Given the description of an element on the screen output the (x, y) to click on. 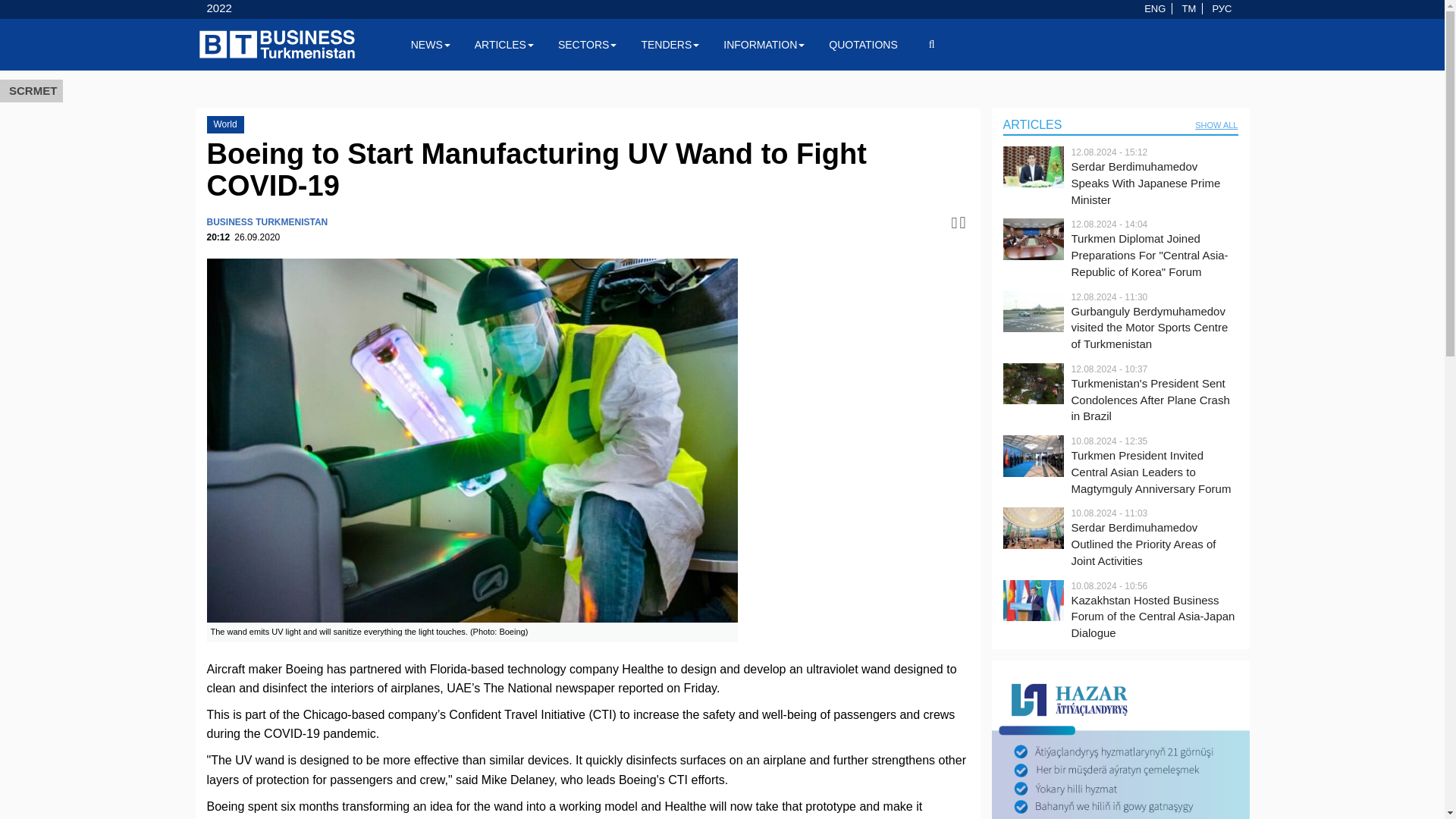
World (224, 124)
Serdar Berdimuhamedov Speaks With Japanese Prime Minister (1153, 183)
